Given the description of an element on the screen output the (x, y) to click on. 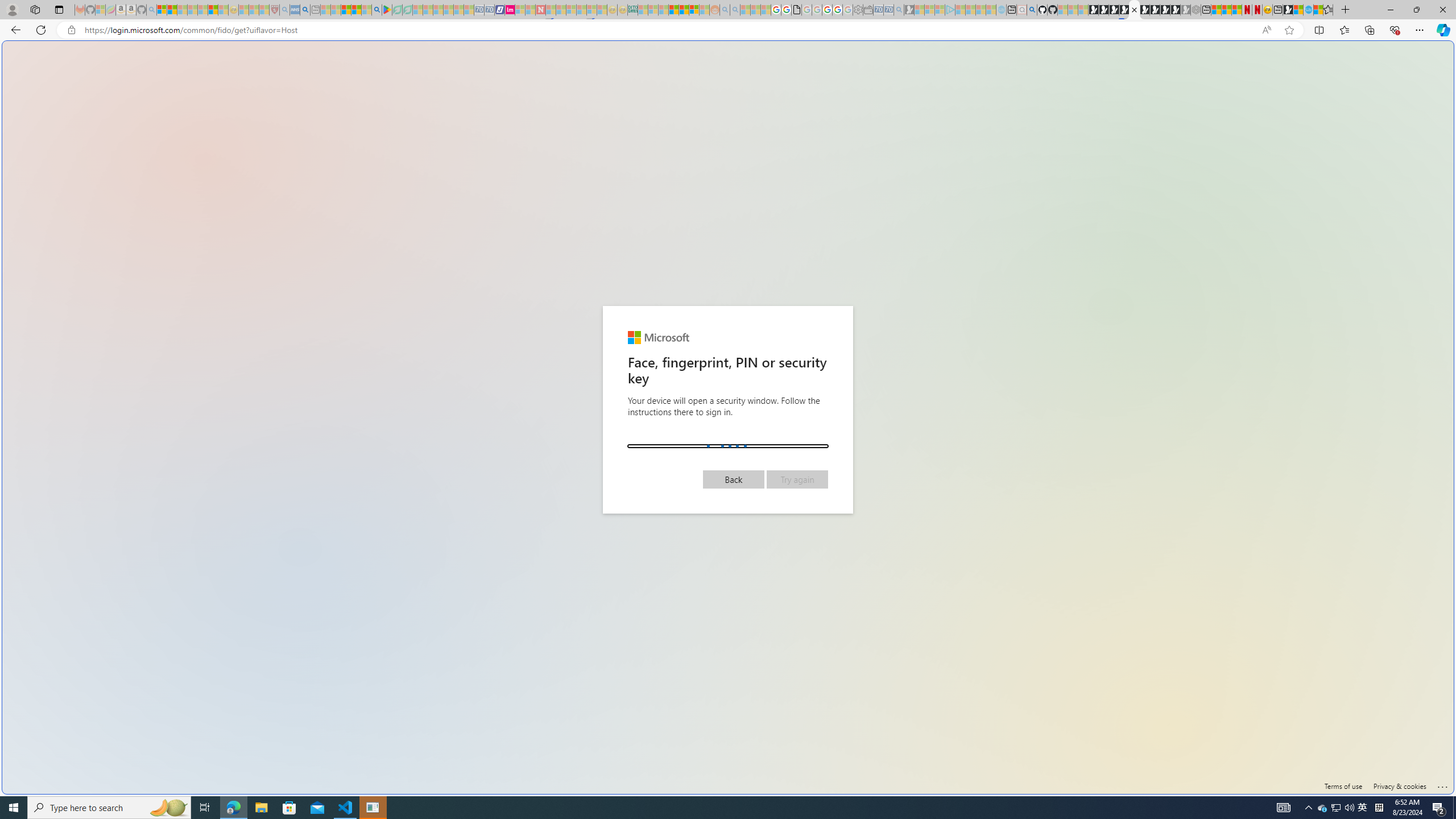
MSN (1118, 536)
MSNBC - MSN - Sleeping (642, 9)
Terms of use (1342, 786)
DITOGAMES AG Imprint (632, 9)
14 Common Myths Debunked By Scientific Facts - Sleeping (560, 9)
Settings - Sleeping (857, 9)
Bing Real Estate - Home sales and rental listings - Sleeping (898, 9)
World - MSN (1297, 9)
Cheap Hotels - Save70.com - Sleeping (489, 9)
